Given the description of an element on the screen output the (x, y) to click on. 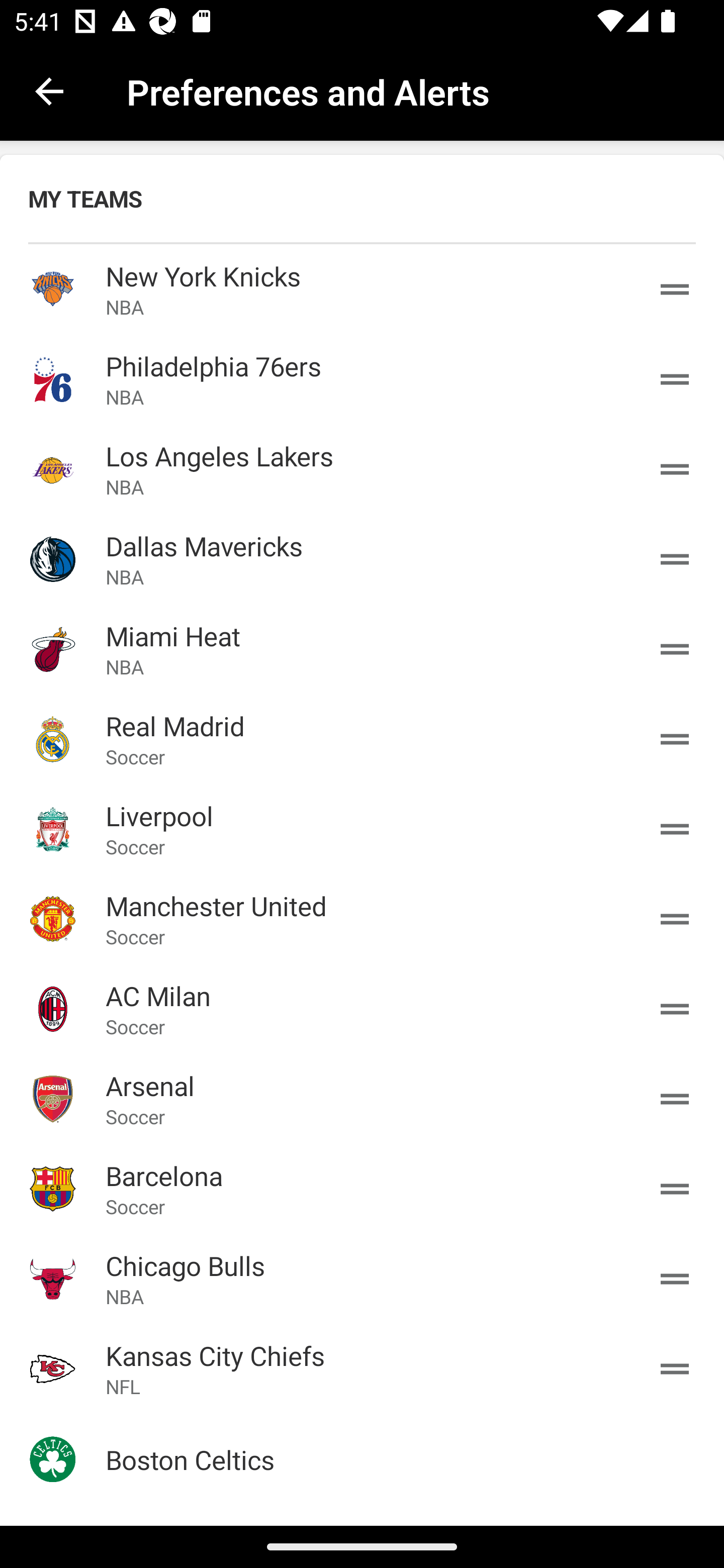
back.button (49, 90)
Miami Heat Miami Heat Miami Heat NBA NBA (362, 648)
Real Madrid Real Madrid Real Madrid Soccer Soccer (362, 739)
Liverpool Liverpool Liverpool Soccer Soccer (362, 828)
AC Milan AC Milan AC Milan Soccer Soccer (362, 1008)
Arsenal Arsenal Arsenal Soccer Soccer (362, 1098)
Barcelona Barcelona Barcelona Soccer Soccer (362, 1188)
Chicago Bulls Chicago Bulls Chicago Bulls NBA NBA (362, 1278)
Boston Celtics Boston Celtics Boston Celtics (362, 1459)
